Given the description of an element on the screen output the (x, y) to click on. 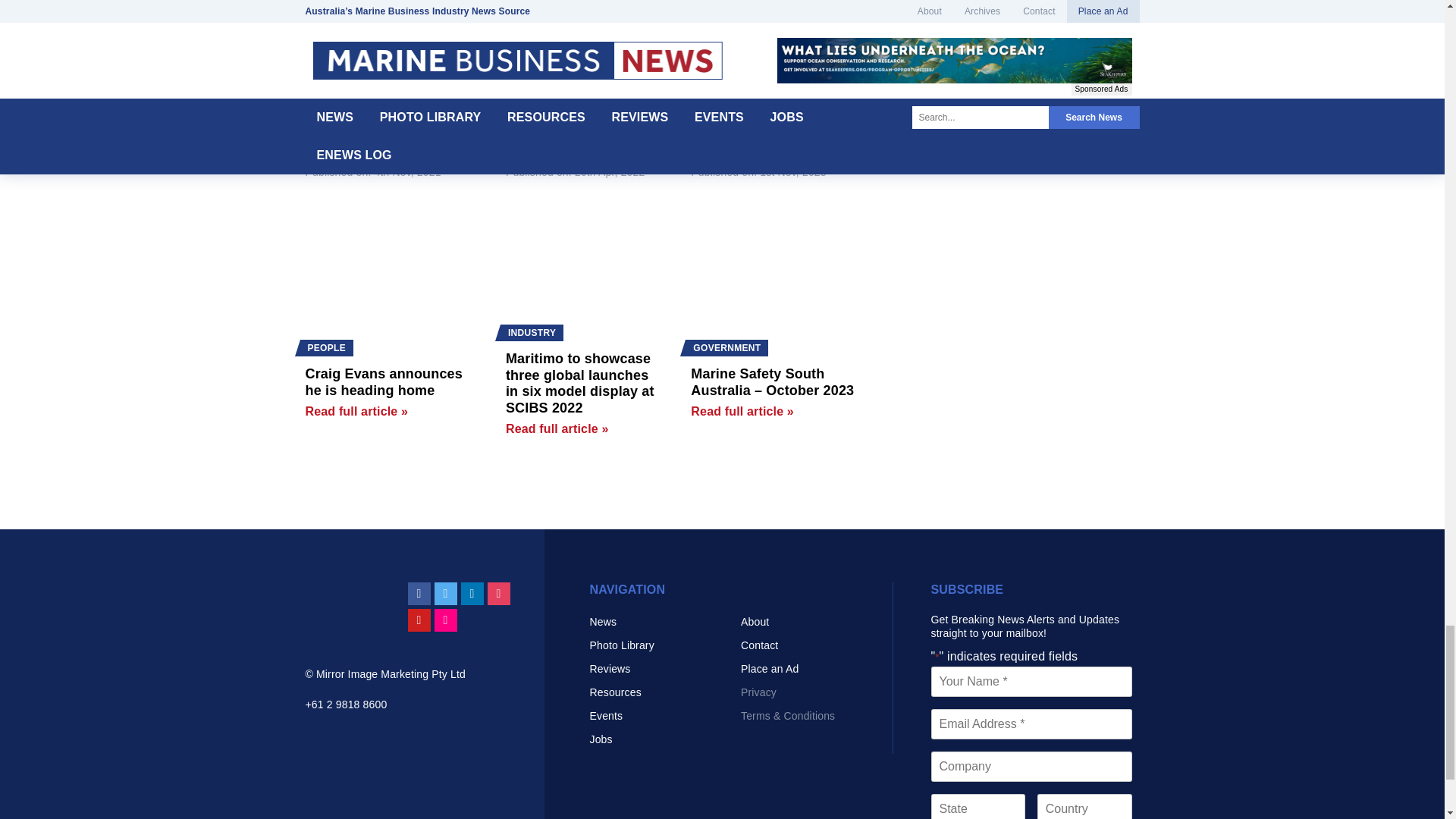
Submit (373, 23)
Submit (373, 23)
